Given the description of an element on the screen output the (x, y) to click on. 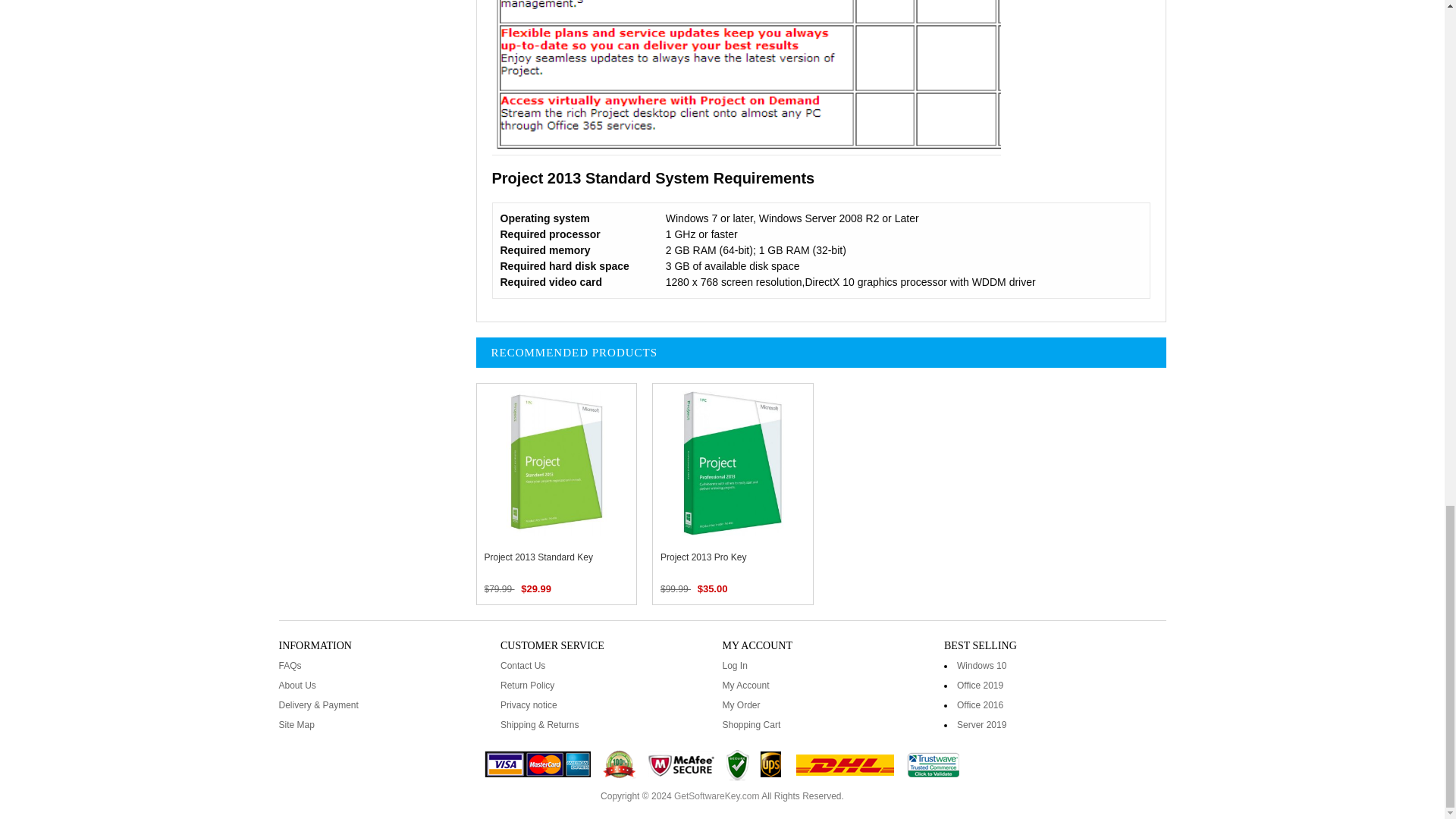
 Project 2013 Pro Key  (733, 463)
payment (722, 765)
 Project 2013 Standard Key  (555, 463)
